Given the description of an element on the screen output the (x, y) to click on. 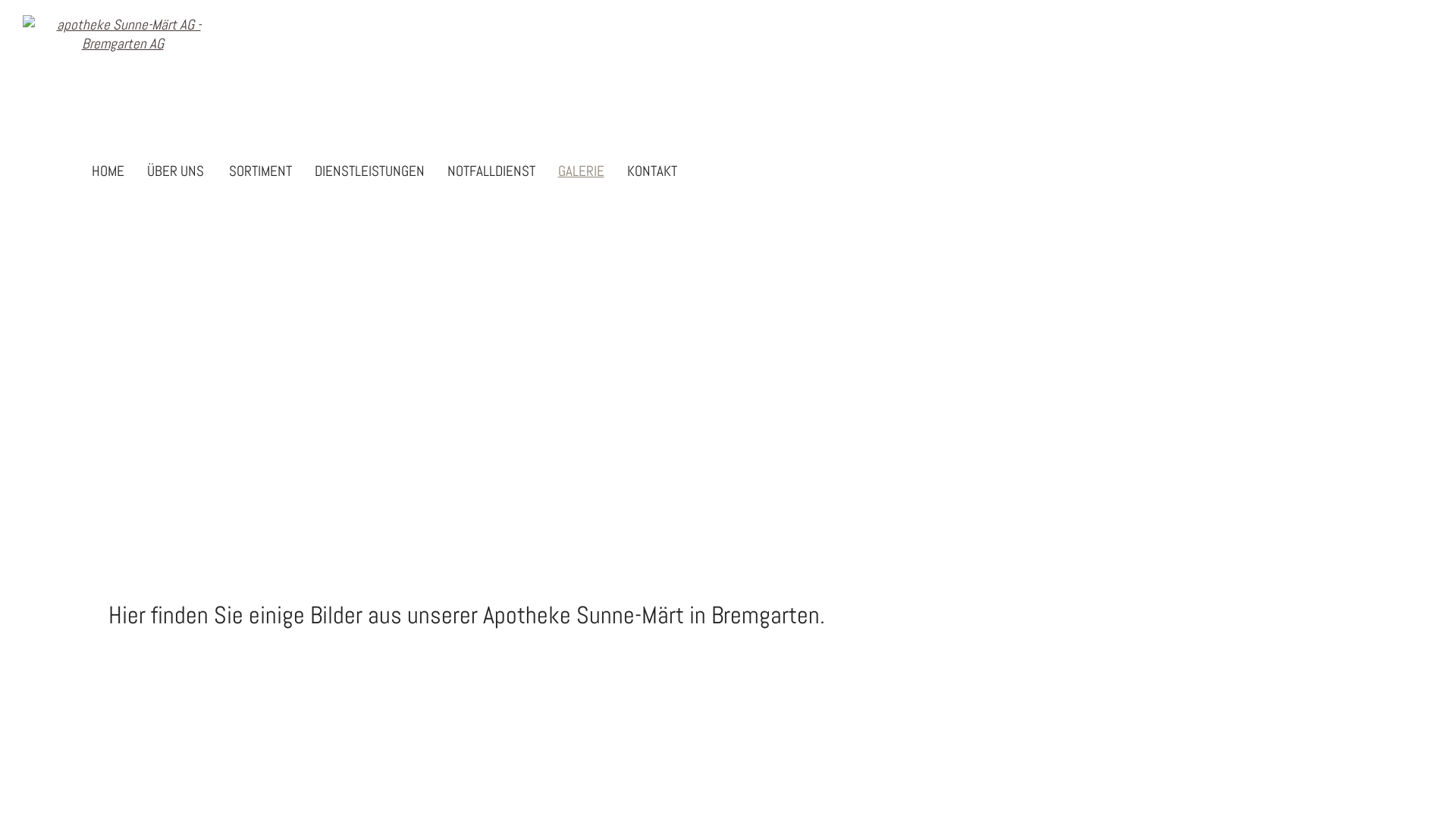
NOTFALLDIENST Element type: text (491, 171)
GALERIE Element type: text (581, 171)
SORTIMENT Element type: text (260, 171)
KONTAKT Element type: text (651, 171)
HOME Element type: text (107, 171)
DIENSTLEISTUNGEN Element type: text (368, 171)
